Given the description of an element on the screen output the (x, y) to click on. 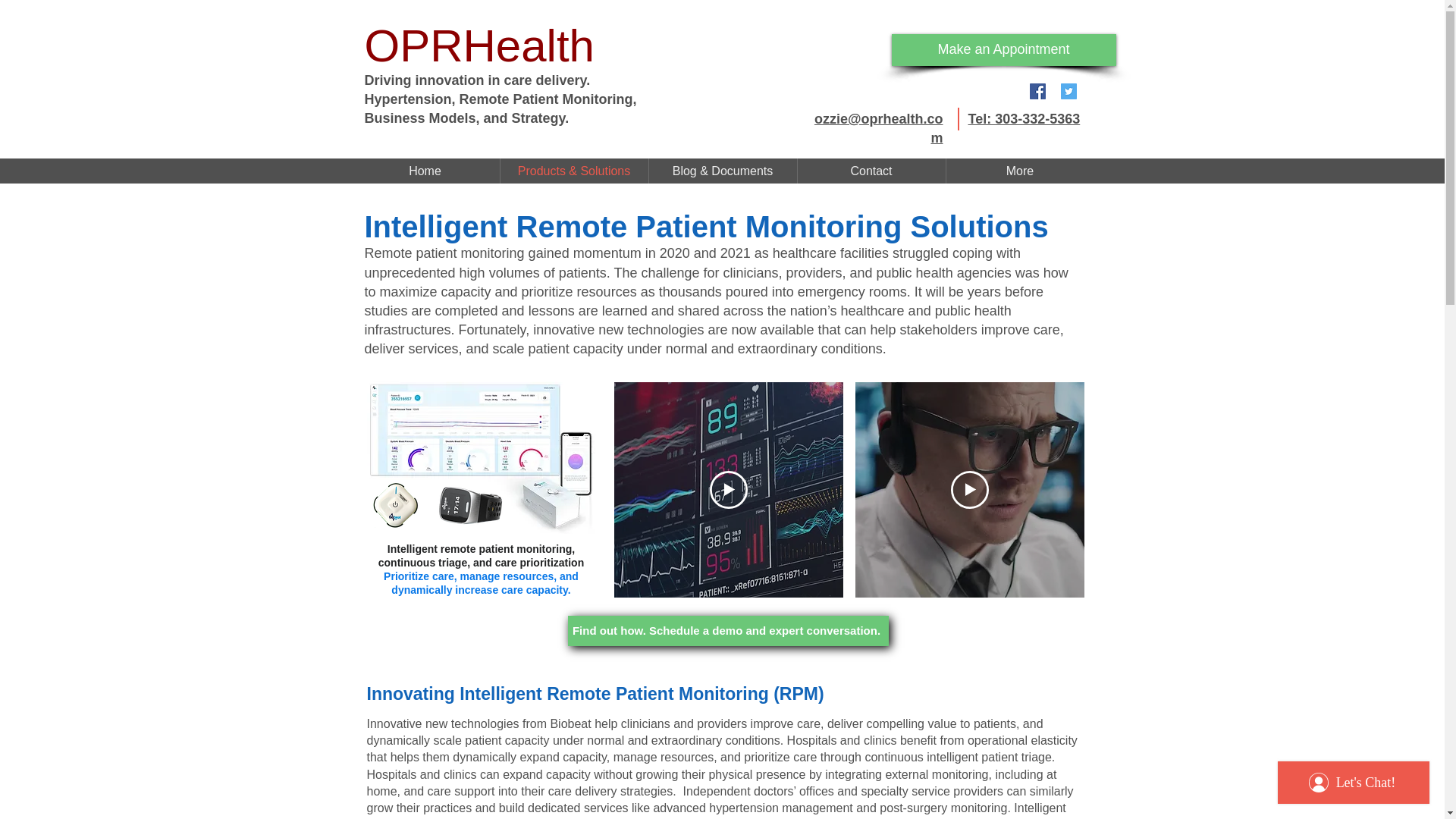
Driving innovation in care delivery.  (479, 79)
Make an Appointment (1003, 50)
Home (424, 170)
Contact (870, 170)
Tel: 303-332-5363 (1024, 118)
OPRHealth (479, 45)
